Given the description of an element on the screen output the (x, y) to click on. 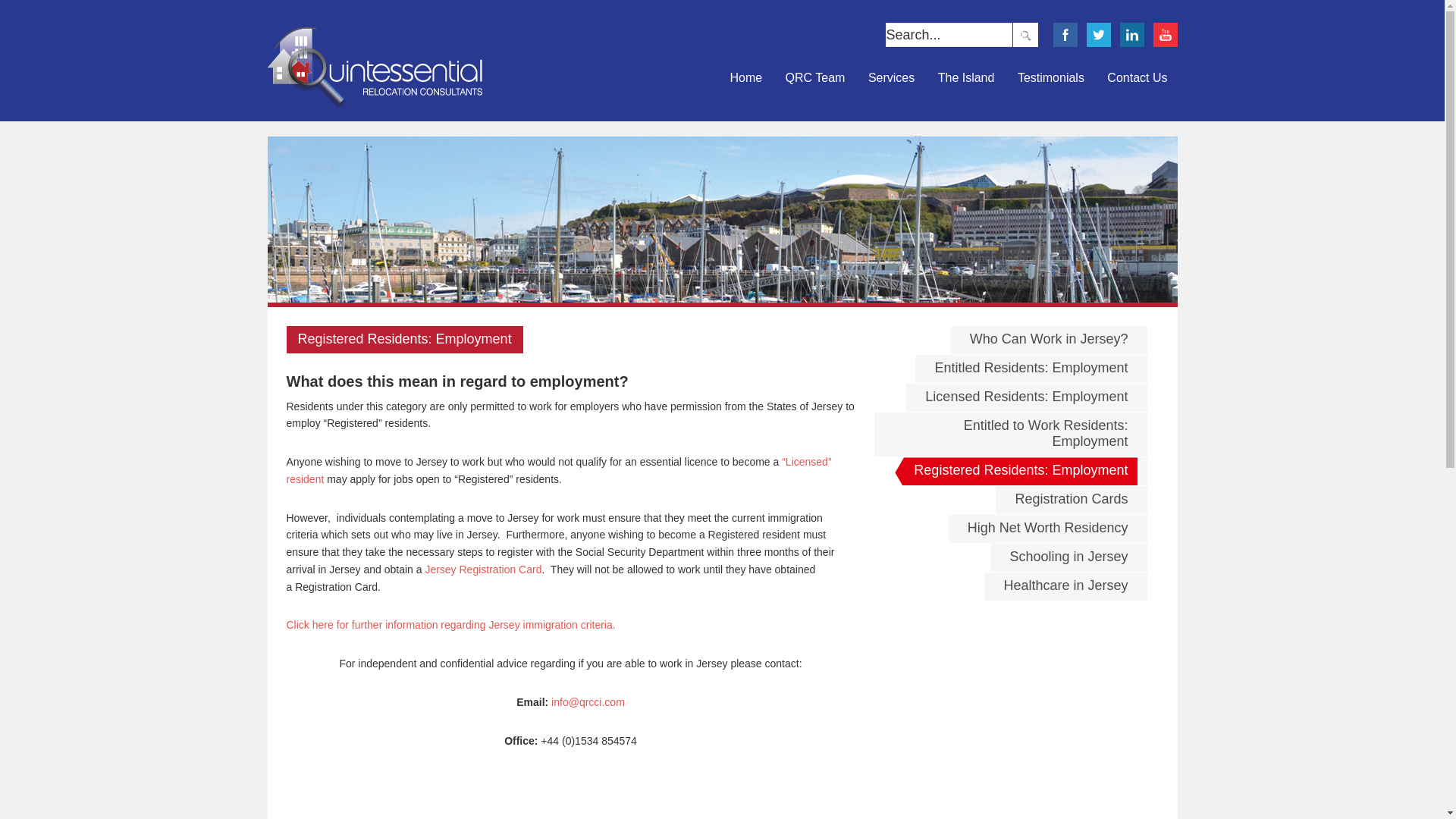
Facebook (1064, 34)
Licensed Residents: Employment (1026, 398)
Jersey Registration Card (483, 569)
QRC Team (816, 78)
Search (1024, 34)
Twitter (1097, 34)
Entitled to Work Residents: Employment (1010, 434)
The Island (966, 78)
Jersey Immigration Criteria (450, 624)
